Given the description of an element on the screen output the (x, y) to click on. 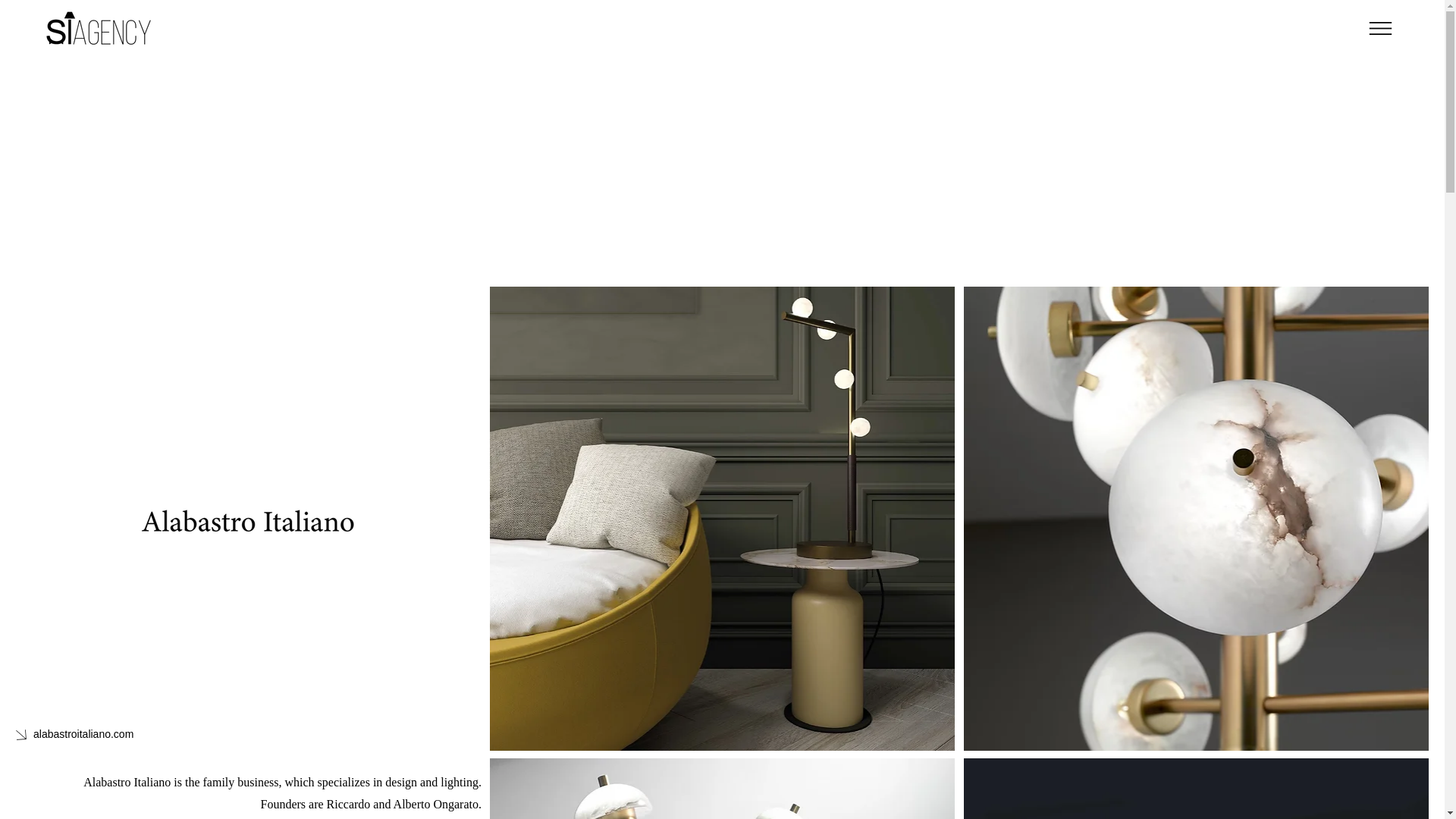
alabastroitaliano.com (127, 735)
